Given the description of an element on the screen output the (x, y) to click on. 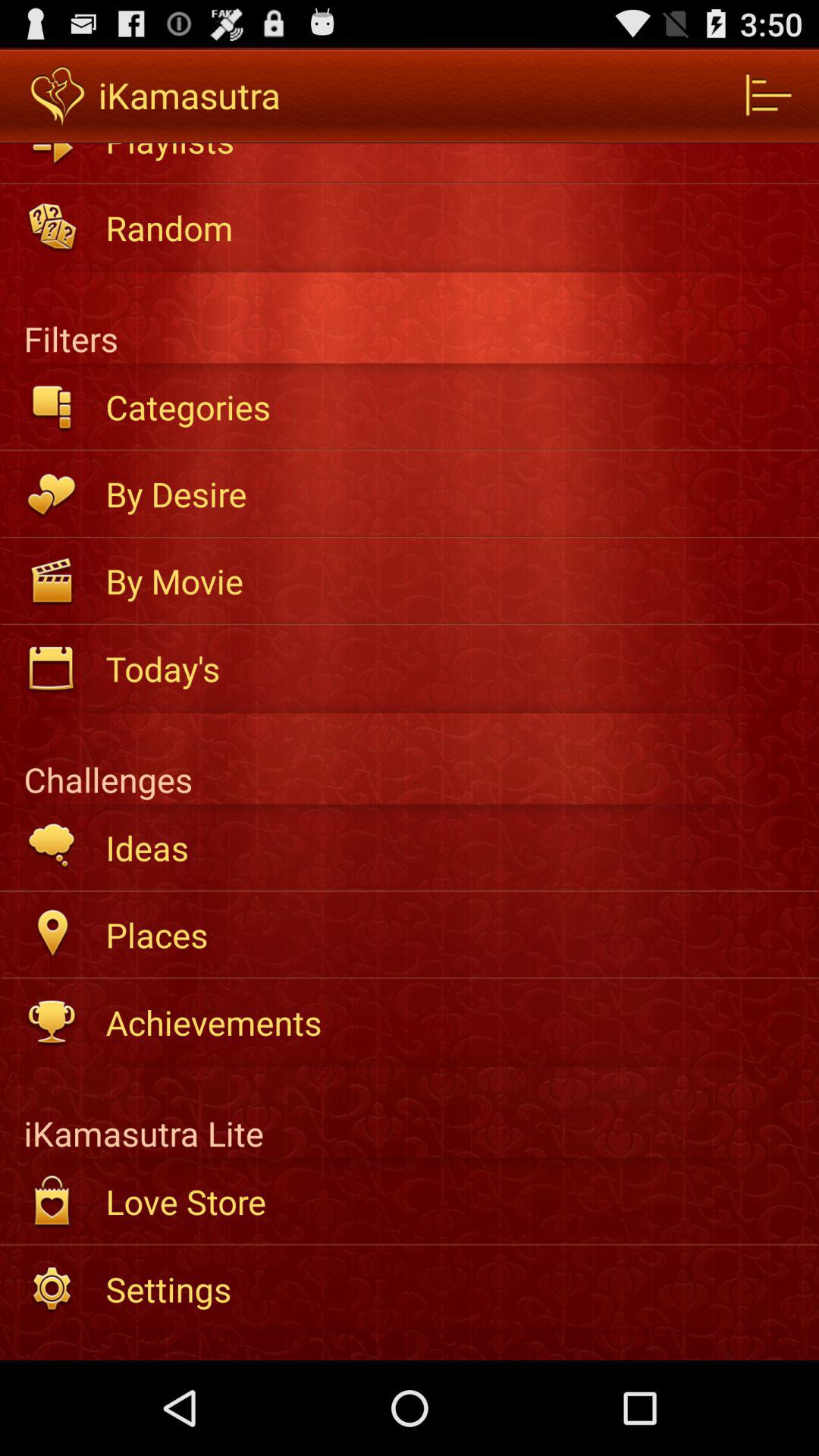
turn on the achievements item (452, 1022)
